Given the description of an element on the screen output the (x, y) to click on. 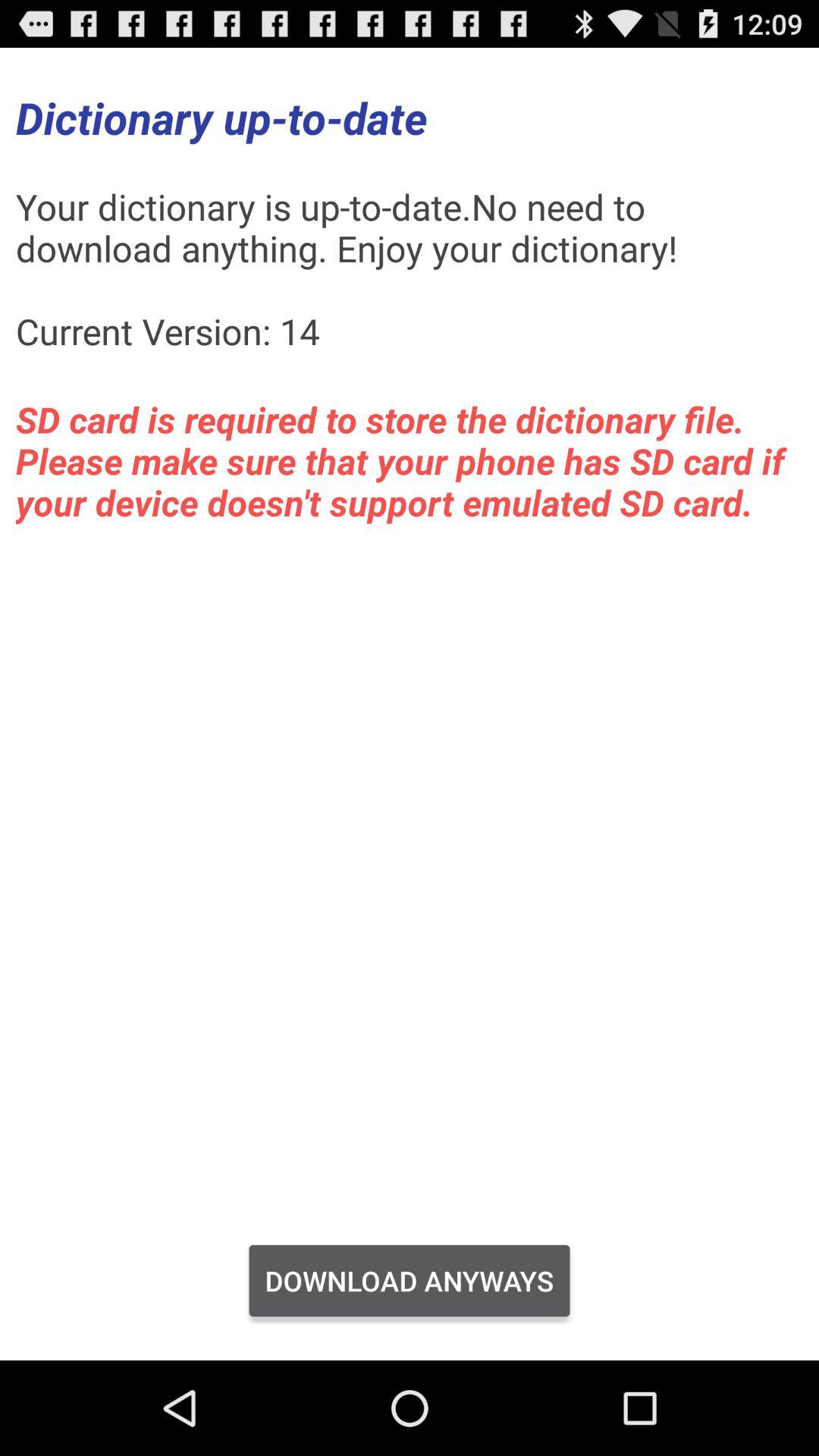
choose download anyways (409, 1280)
